Given the description of an element on the screen output the (x, y) to click on. 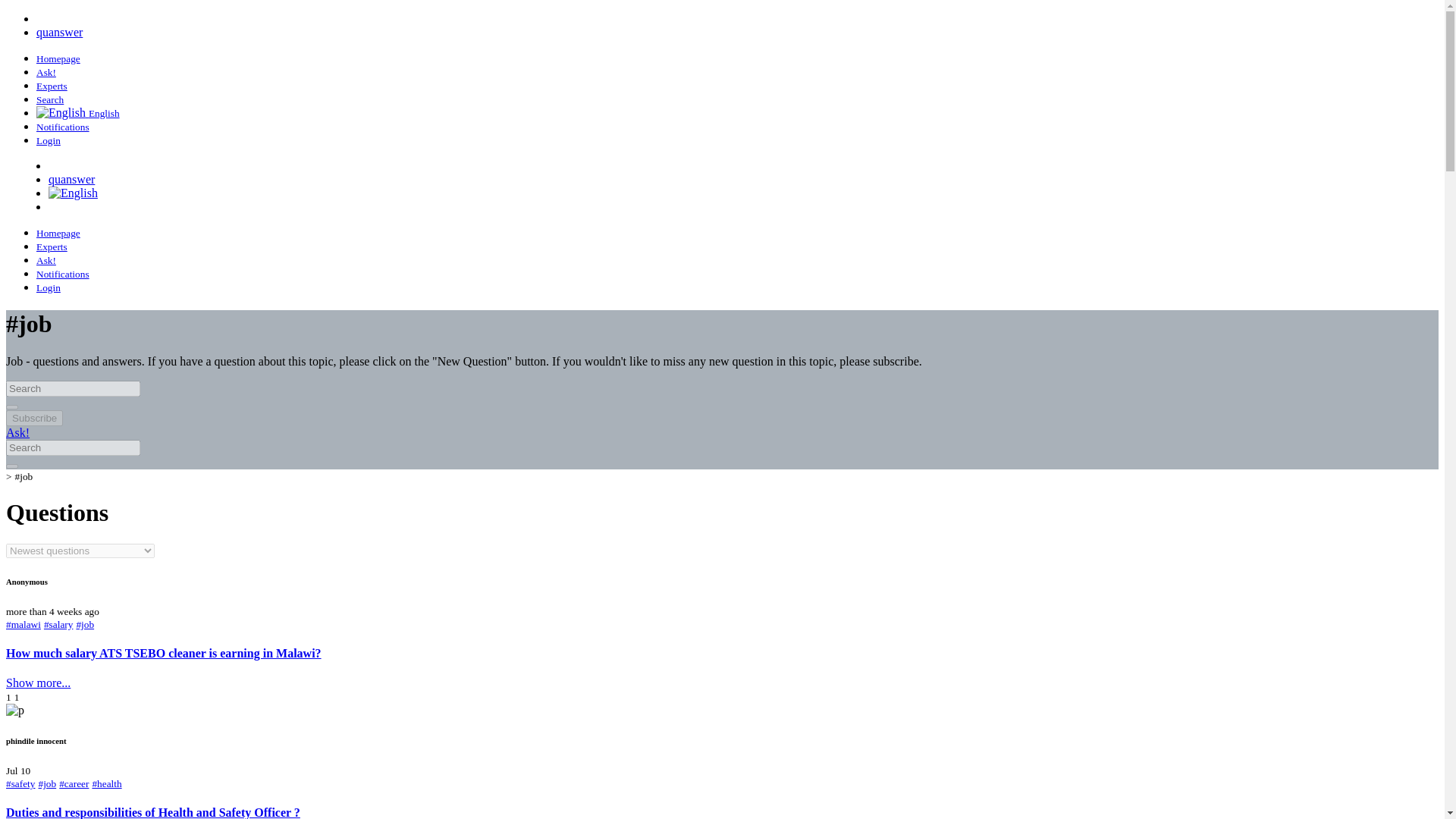
Login (48, 139)
Experts (51, 245)
quanswer (71, 178)
Search (50, 98)
Ask! (46, 259)
English (77, 112)
Ask! (17, 431)
Homepage (58, 57)
Notifications (62, 125)
quanswer (59, 31)
